Given the description of an element on the screen output the (x, y) to click on. 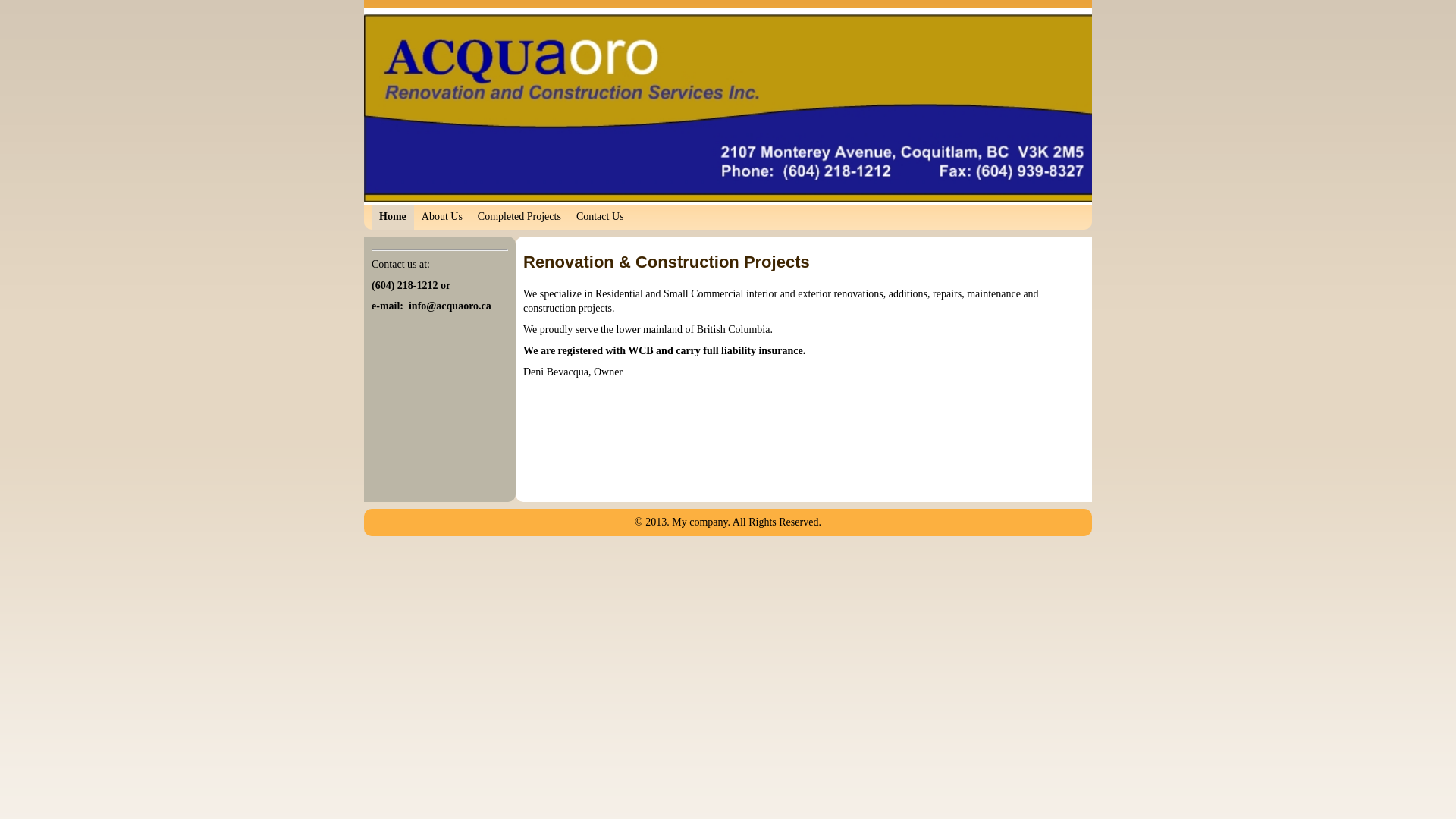
About Us Element type: text (442, 216)
Contact Us Element type: text (599, 216)
Home Element type: text (392, 216)
Completed Projects Element type: text (519, 216)
